Given the description of an element on the screen output the (x, y) to click on. 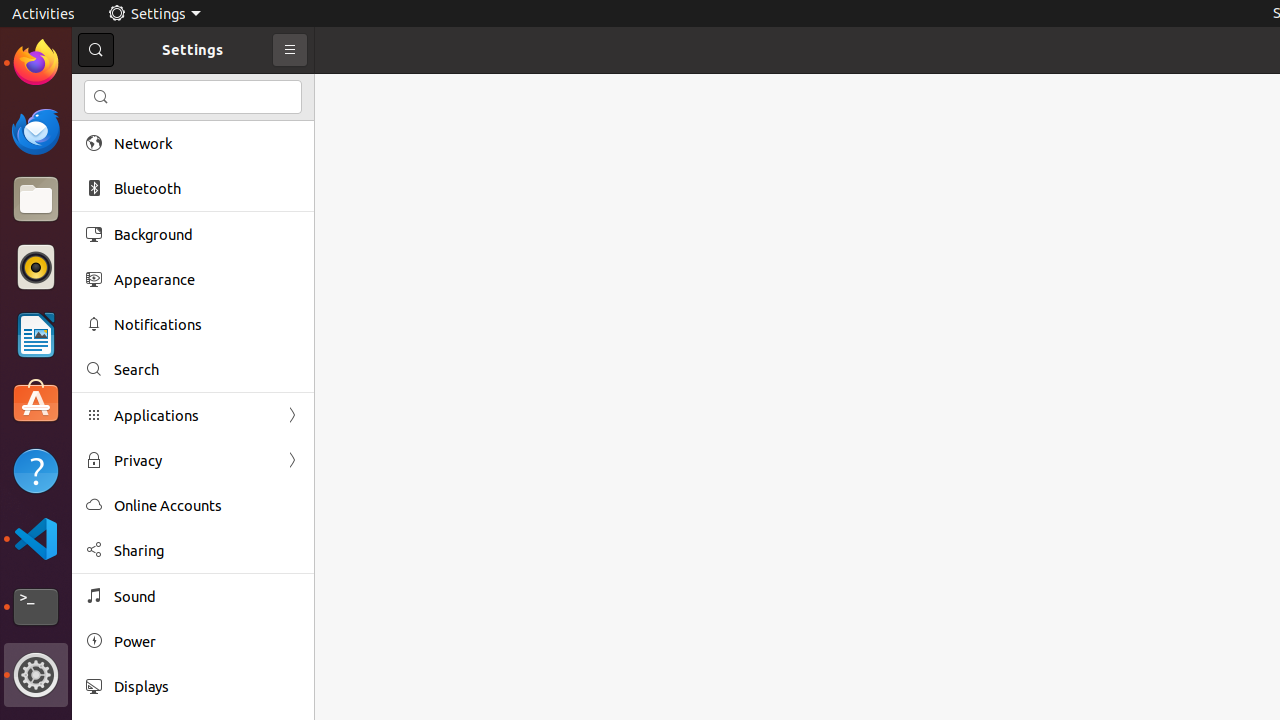
Terminal Element type: push-button (36, 607)
Background Element type: label (207, 234)
edit-find-symbolic Element type: icon (101, 97)
